Given the description of an element on the screen output the (x, y) to click on. 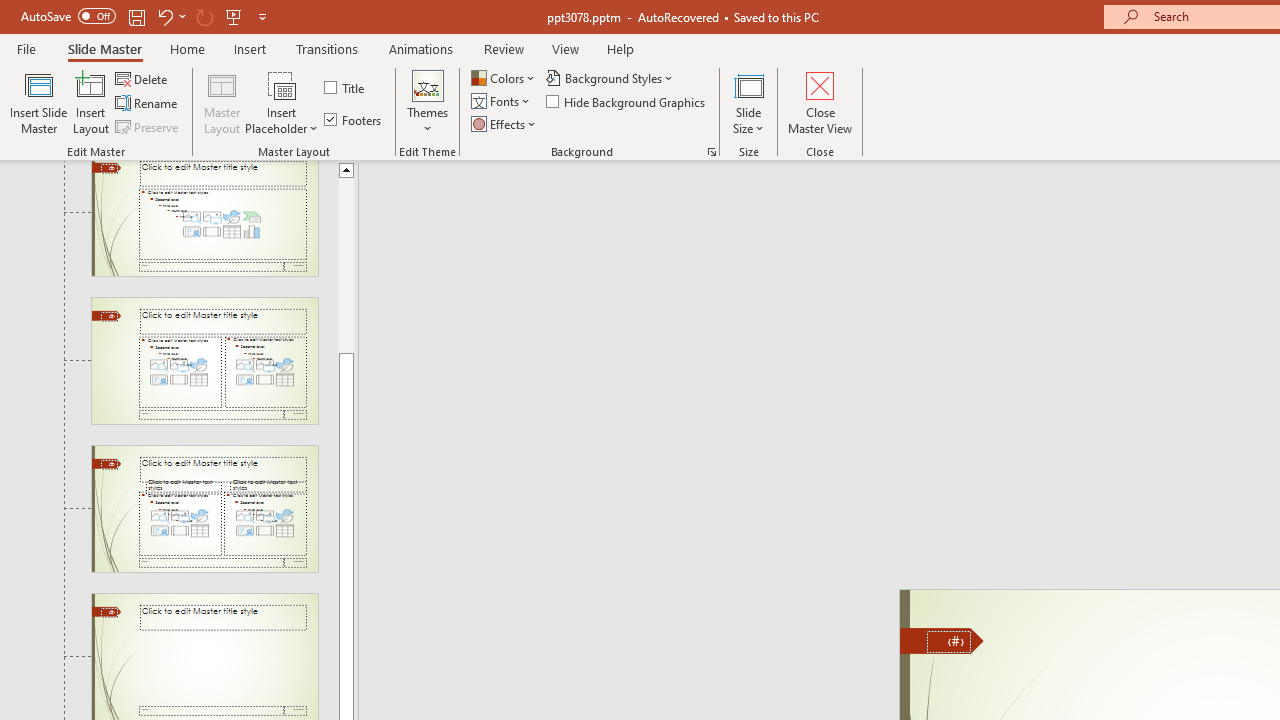
Preserve (148, 126)
Content (282, 84)
Line up (345, 169)
Slide Number (948, 641)
Colors (504, 78)
Themes (427, 102)
Save (136, 15)
Insert Layout (91, 102)
Customize Quick Access Toolbar (262, 15)
Effects (505, 124)
Rename (148, 103)
Freeform 11 (941, 640)
Format Background... (711, 151)
Review (503, 48)
From Beginning (234, 15)
